Given the description of an element on the screen output the (x, y) to click on. 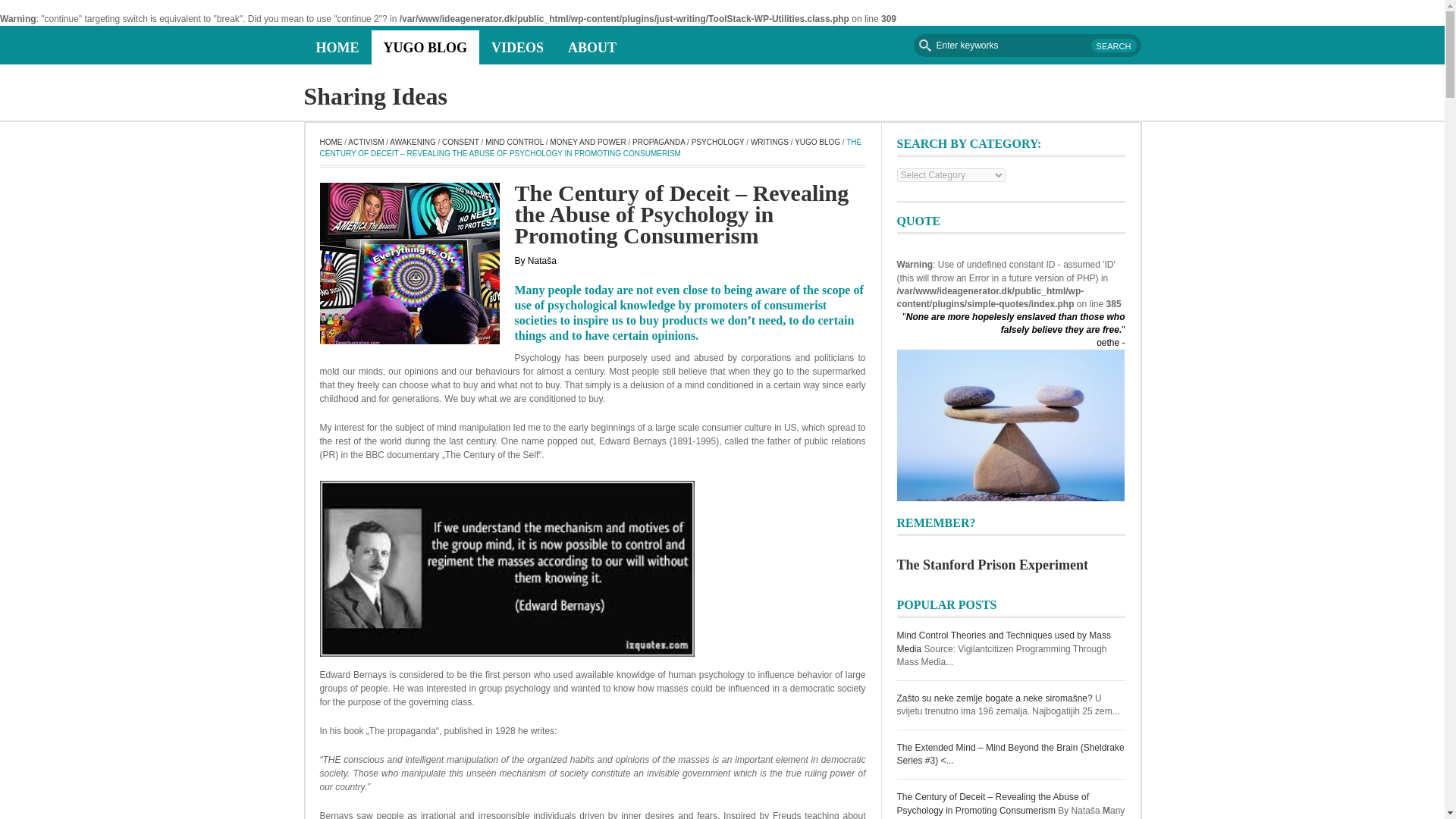
Sharing Ideas (374, 95)
HOME (331, 142)
Search (1112, 45)
ACTIVISM (365, 142)
MONEY AND POWER (588, 142)
YUGO BLOG (817, 142)
ABOUT (592, 47)
AWAKENING (412, 142)
MIND CONTROL (513, 142)
Search (1112, 45)
HOME (336, 47)
YUGO BLOG (425, 47)
VIDEOS (517, 47)
Mind Control Theories and Techniques used by Mass Media (1002, 641)
PSYCHOLOGY (717, 142)
